Given the description of an element on the screen output the (x, y) to click on. 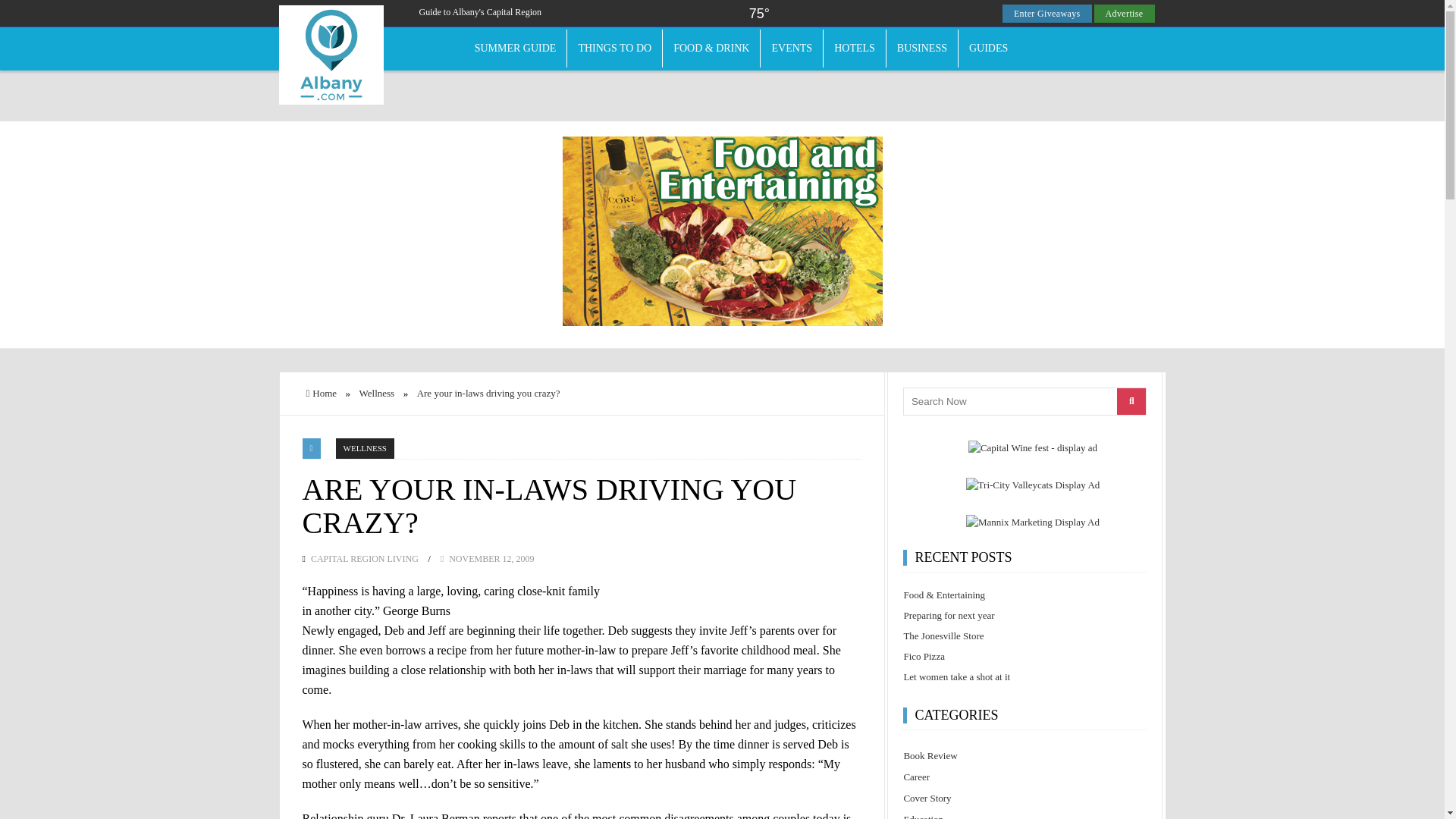
View all posts in Wellness (365, 448)
Tri-City Valleycats Display Ad (1033, 485)
SUMMER GUIDE (515, 48)
Mannix Marketing Display Ad (1032, 521)
Enter Giveaways (1047, 13)
Capital Wine fest - display ad (1032, 447)
THINGS TO DO (614, 48)
Advertise (1124, 13)
Weather Forecast (758, 13)
Weather (759, 14)
Posts by Capital Region Living (365, 558)
